Given the description of an element on the screen output the (x, y) to click on. 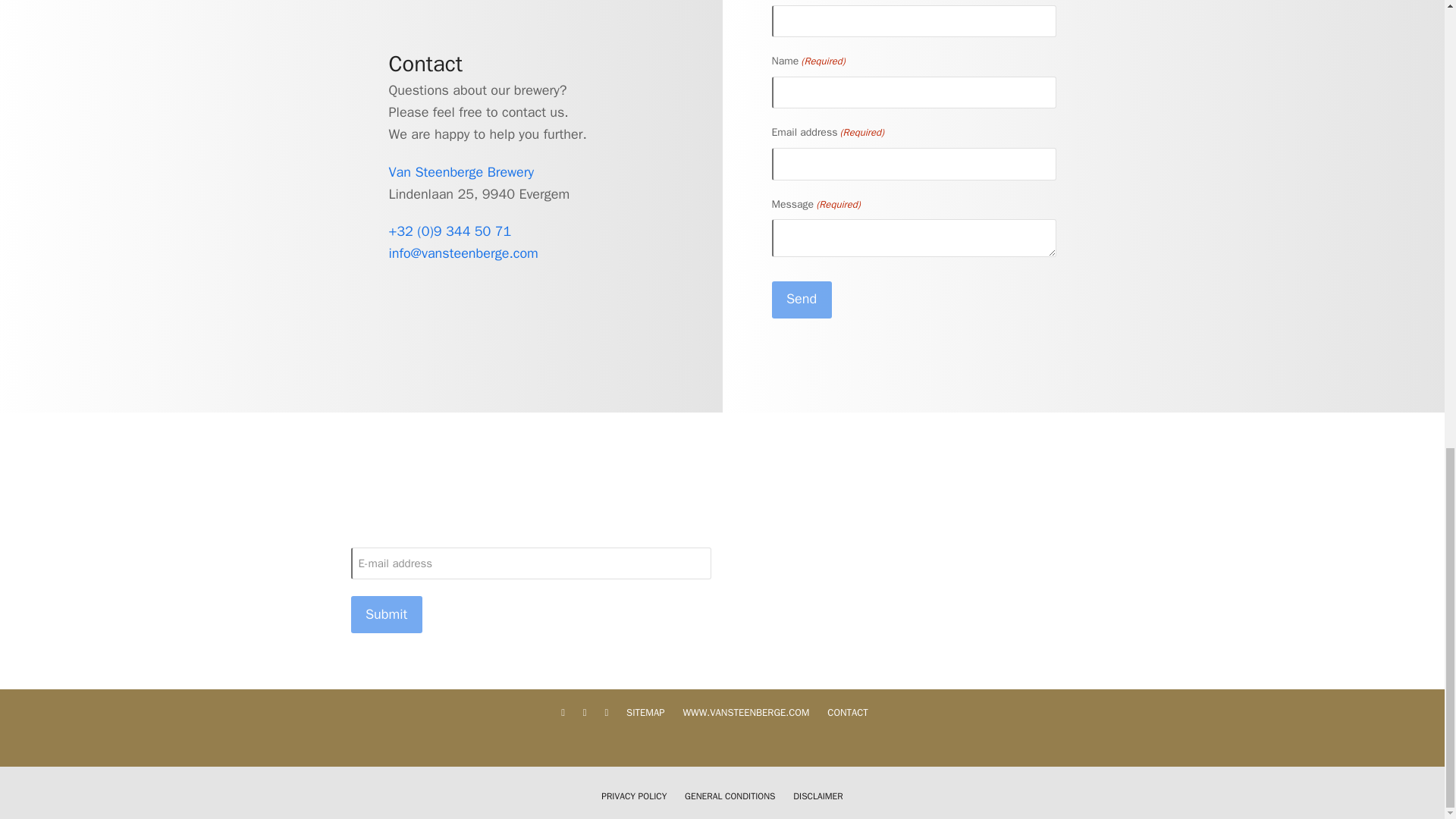
Send (801, 299)
Send (801, 299)
WWW.VANSTEENBERGE.COM (745, 712)
Submit (386, 614)
SITEMAP (644, 712)
Van Steenberge Brewery (461, 171)
Submit (386, 614)
